Given the description of an element on the screen output the (x, y) to click on. 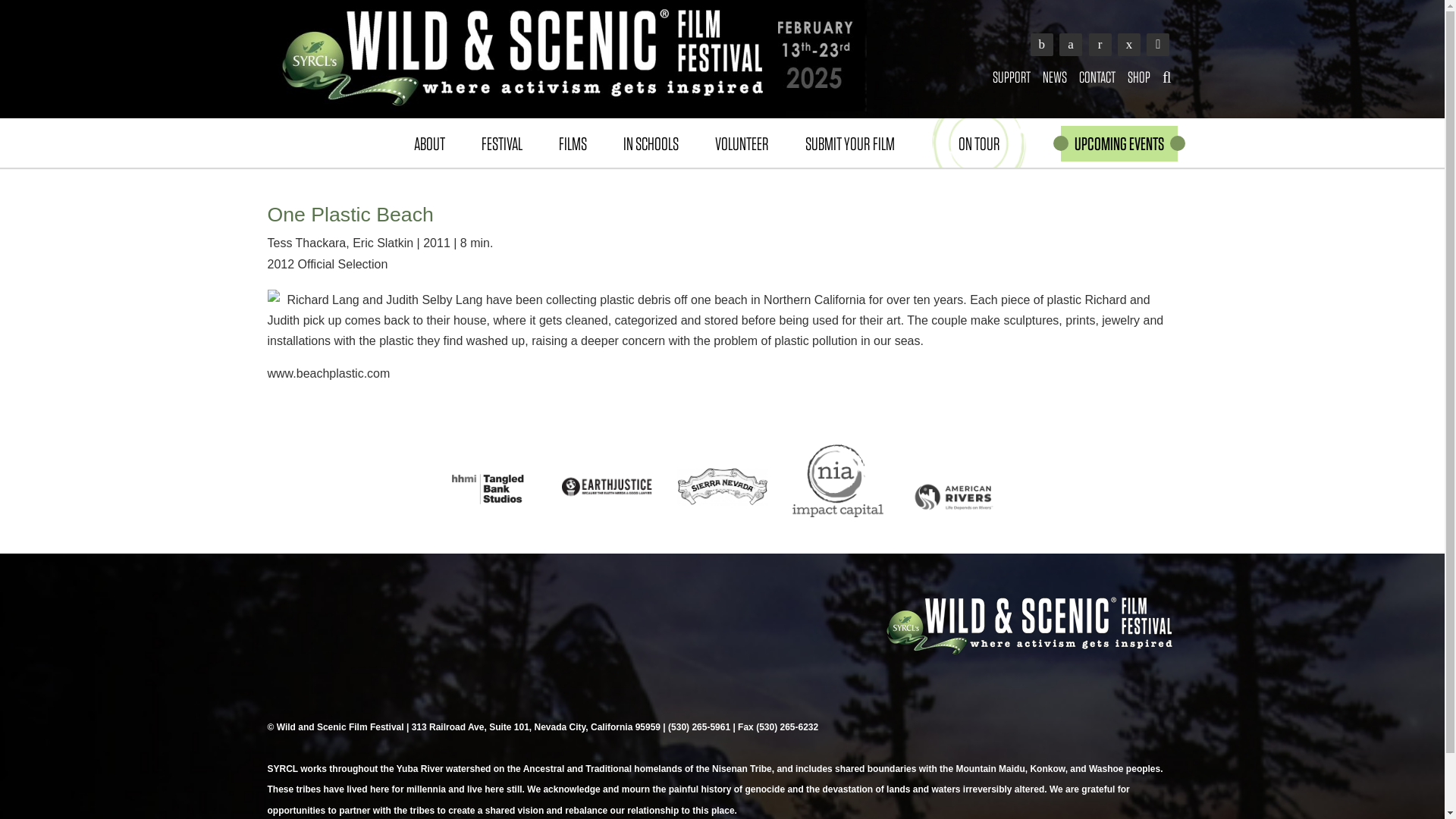
ABOUT (429, 142)
SHOP (1138, 76)
UPCOMING EVENTS (1117, 143)
IN SCHOOLS (651, 142)
VOLUNTEER (740, 142)
CONTACT (1097, 76)
NEWS (1054, 76)
ON TOUR (979, 142)
SUBMIT YOUR FILM (849, 142)
FILMS (572, 142)
FESTIVAL (501, 142)
SUPPORT (1011, 76)
